Given the description of an element on the screen output the (x, y) to click on. 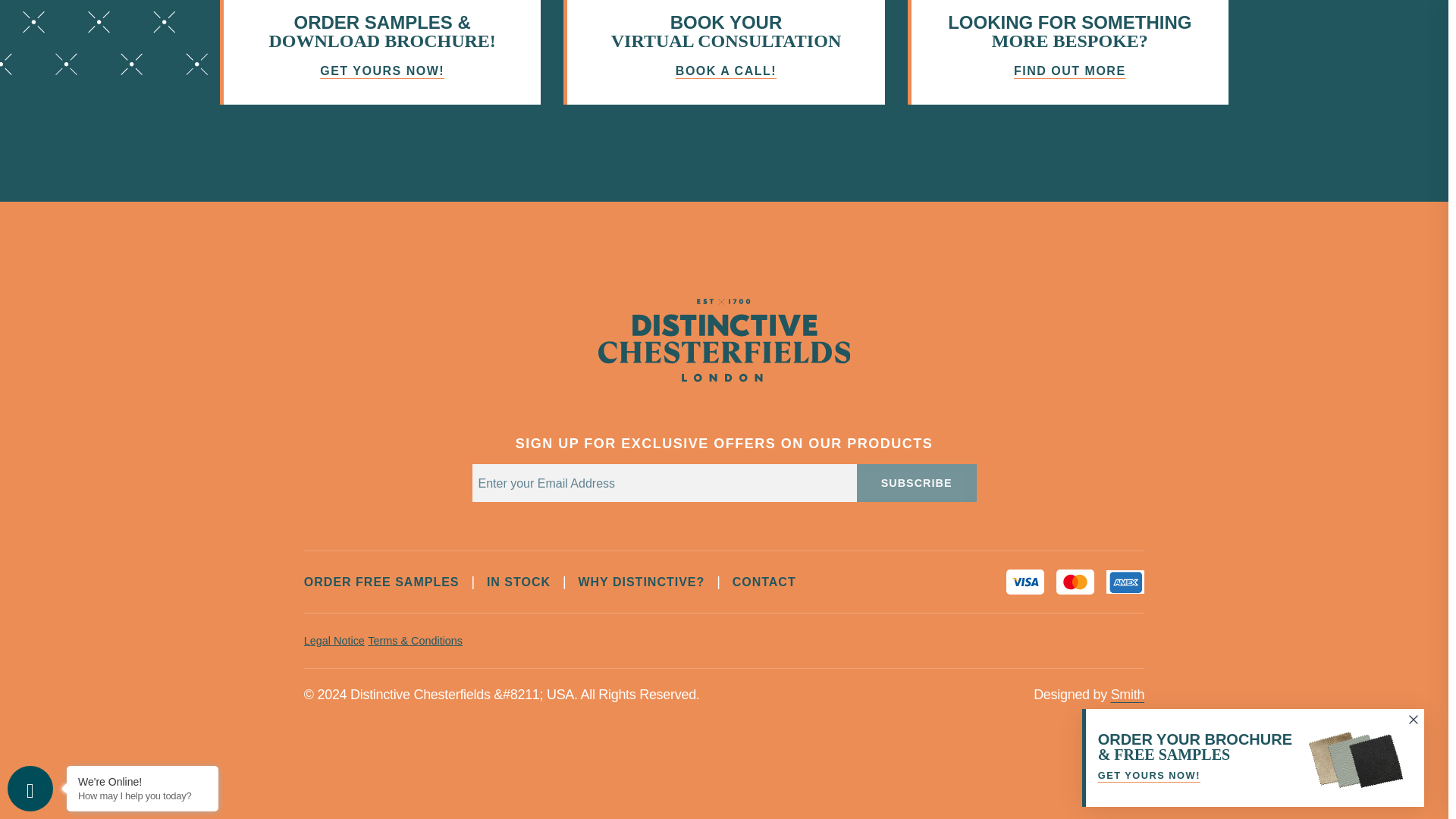
Book a FREE Consultation Call (723, 52)
Distinctive Chesterfields - USA (724, 377)
Read our Legal Notice (334, 640)
Subscribe (916, 483)
